Given the description of an element on the screen output the (x, y) to click on. 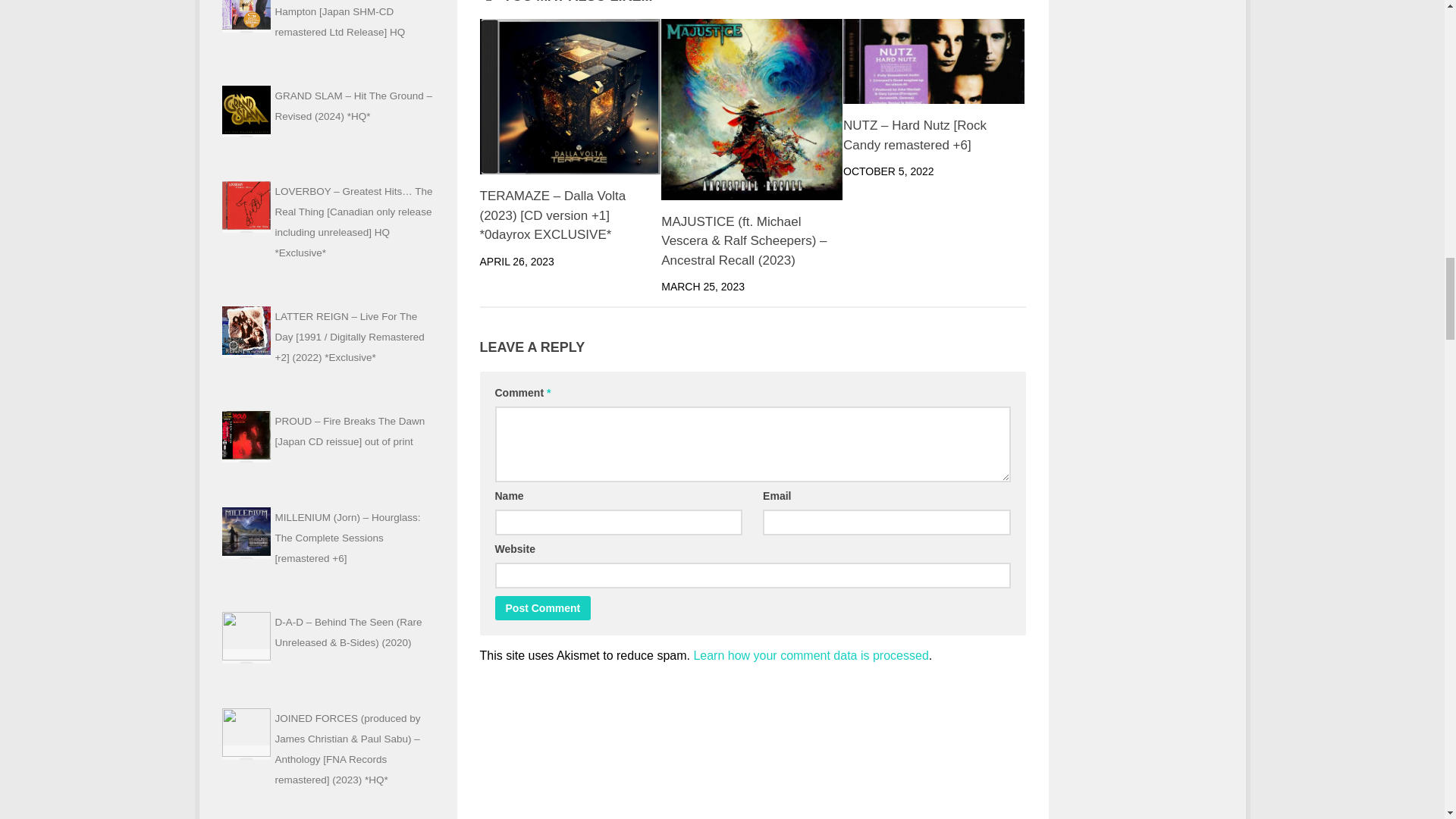
Post Comment (543, 607)
Learn how your comment data is processed (810, 655)
Post Comment (543, 607)
